Given the description of an element on the screen output the (x, y) to click on. 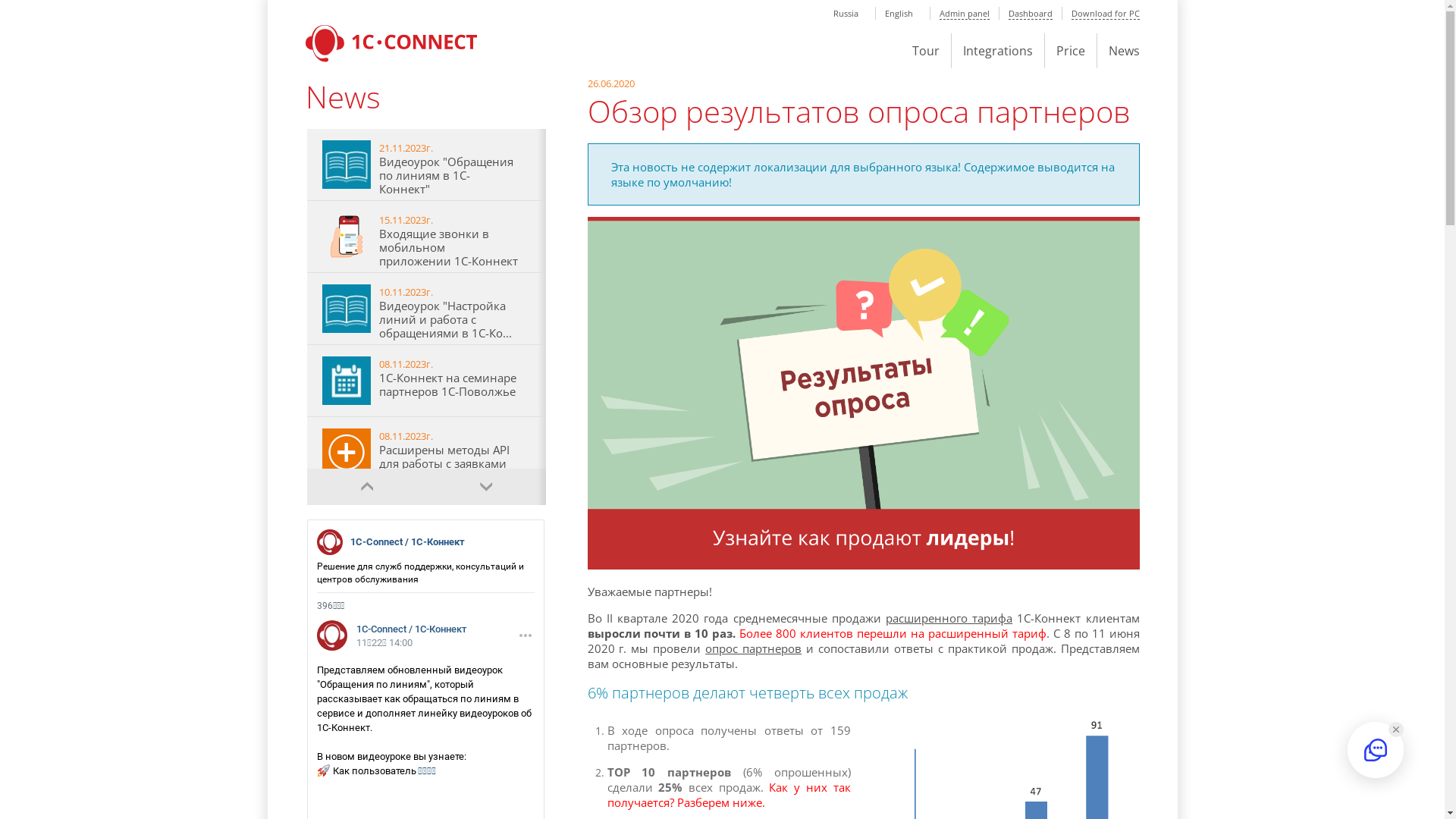
Admin panel Element type: text (963, 13)
Dashboard Element type: text (1030, 13)
Tour Element type: text (924, 51)
Price Element type: text (1069, 51)
Download for PC Element type: text (1104, 13)
News Element type: text (1123, 51)
Integrations Element type: text (997, 51)
Buhphone Element type: hover (390, 45)
